Given the description of an element on the screen output the (x, y) to click on. 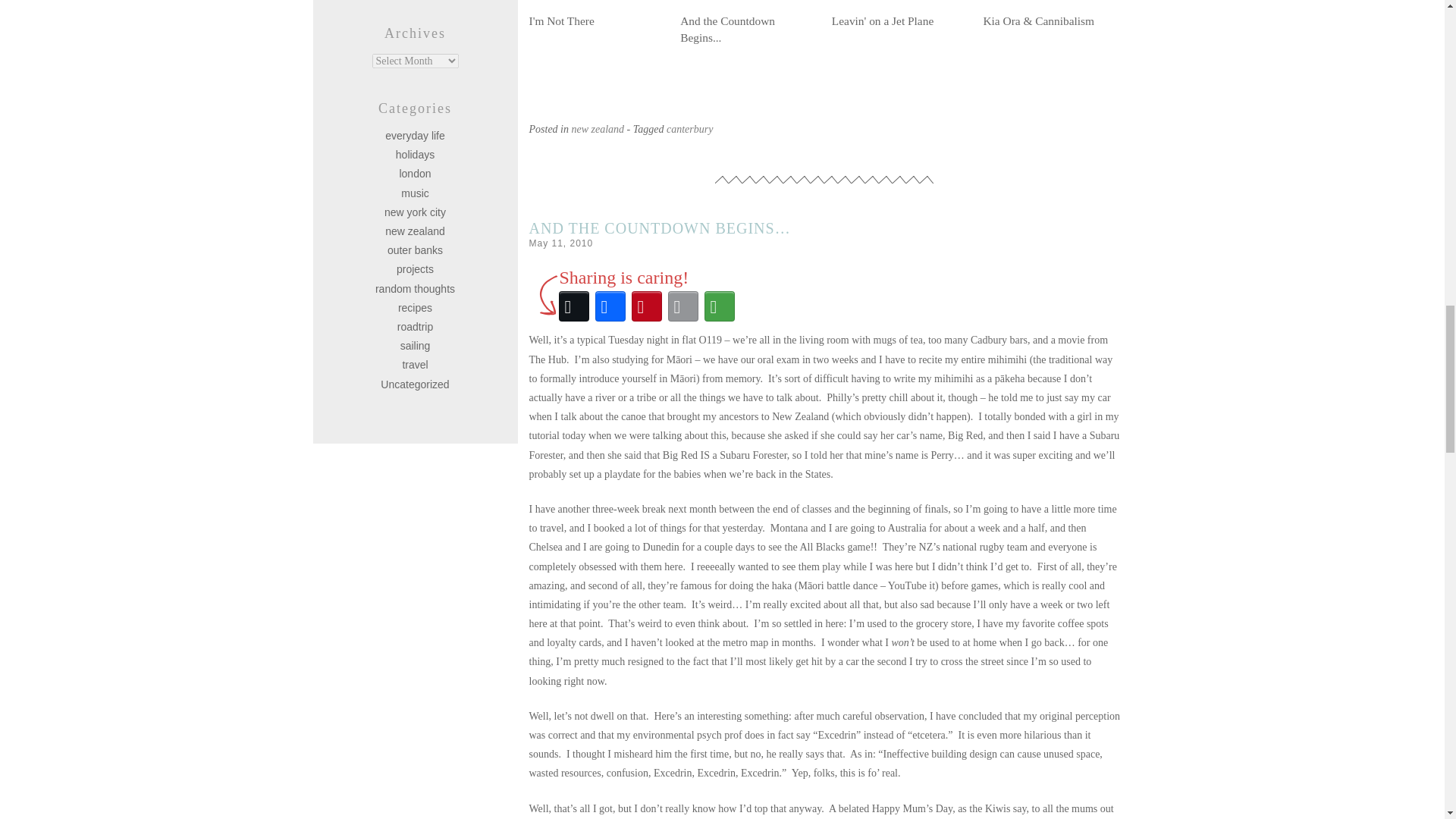
May 11, 2010 (561, 243)
And the Countdown Begins... (747, 22)
I'm Not There (597, 14)
canterbury (689, 129)
new zealand (598, 129)
Leavin' on a Jet Plane (899, 14)
I'm Not There (597, 14)
